Given the description of an element on the screen output the (x, y) to click on. 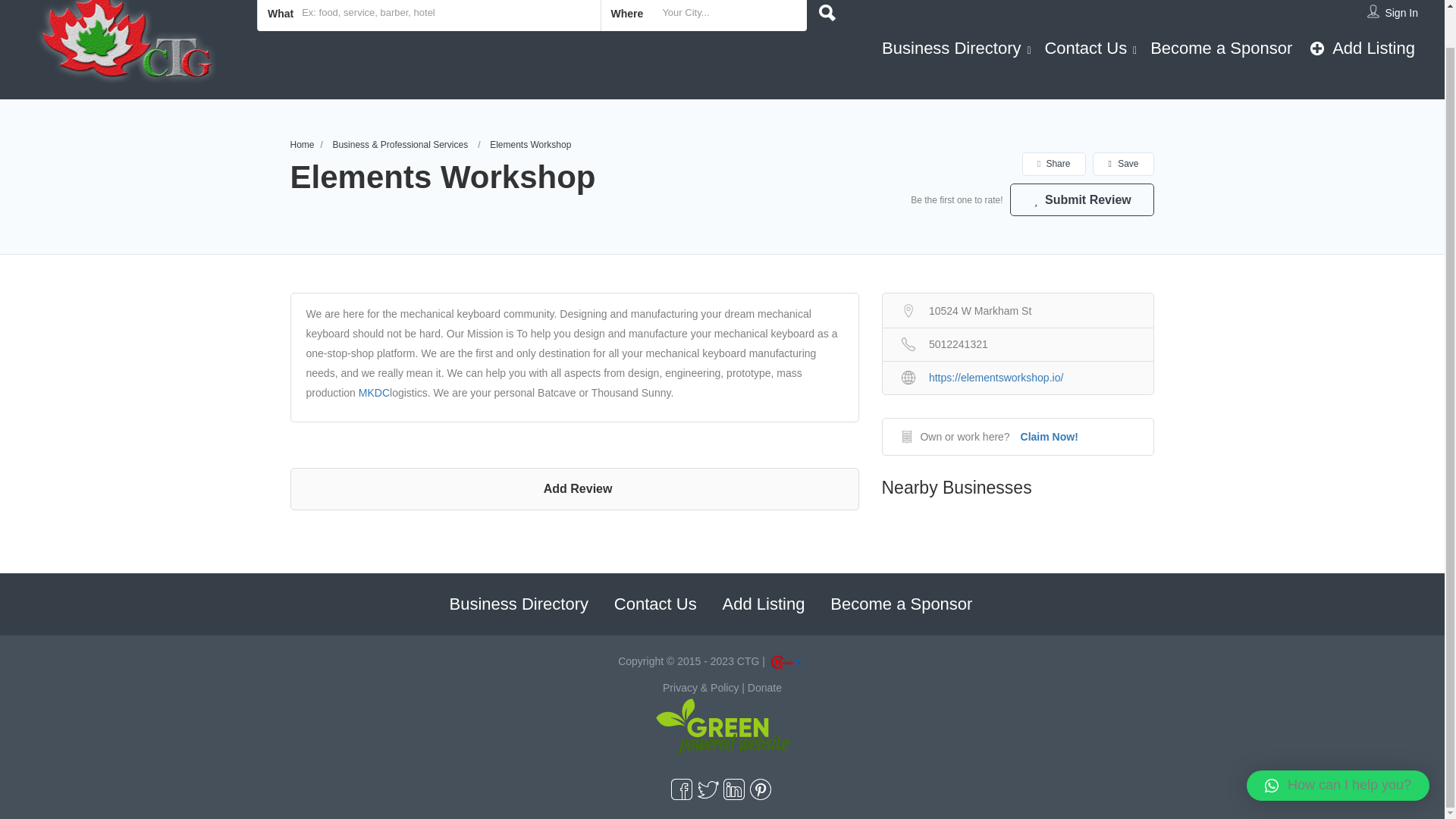
Sign In (1401, 11)
Business Directory (951, 46)
